Given the description of an element on the screen output the (x, y) to click on. 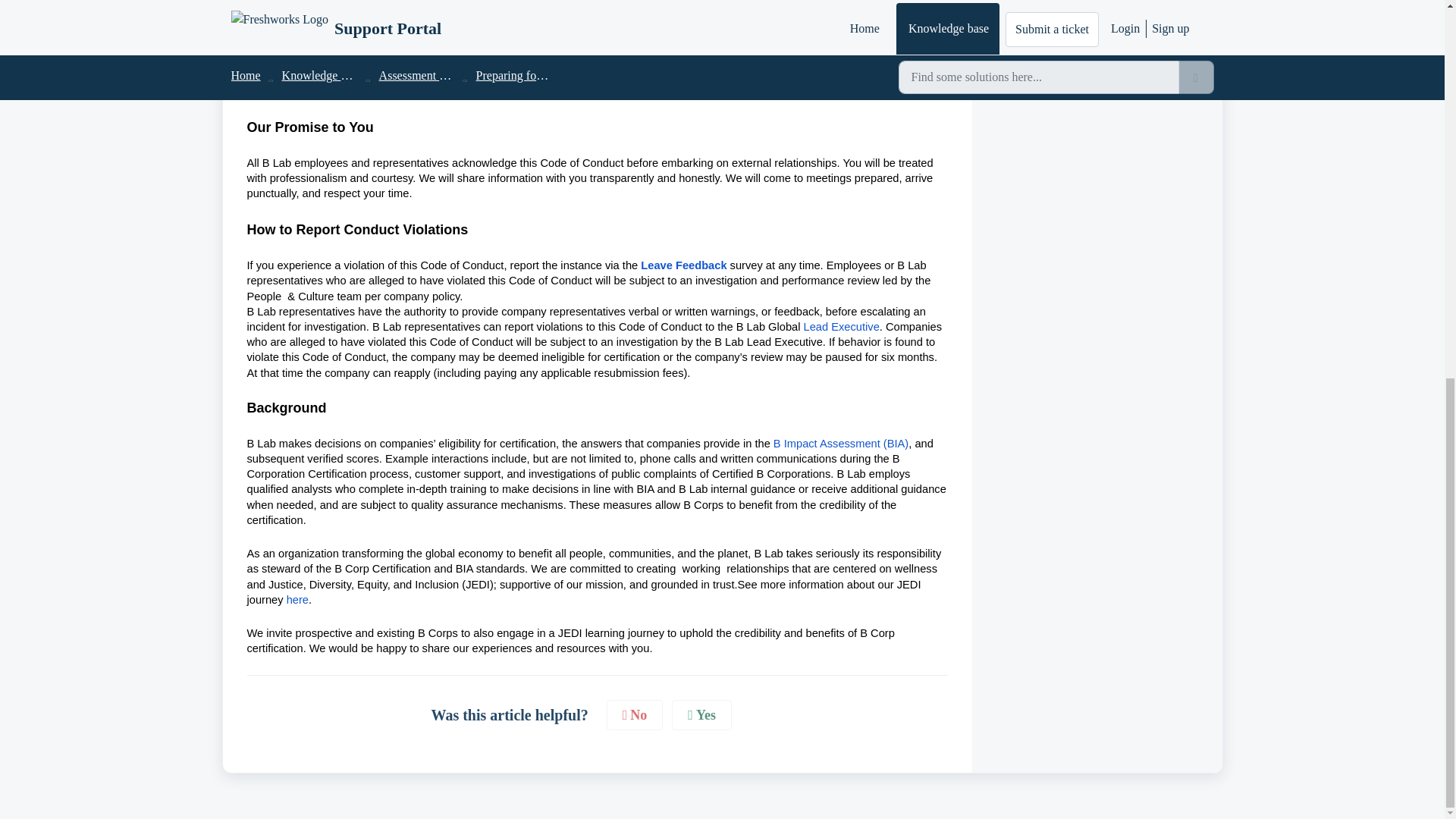
Leave Feedback (683, 265)
Yes (701, 715)
here (297, 600)
No (635, 715)
Lead Executive (841, 326)
